Given the description of an element on the screen output the (x, y) to click on. 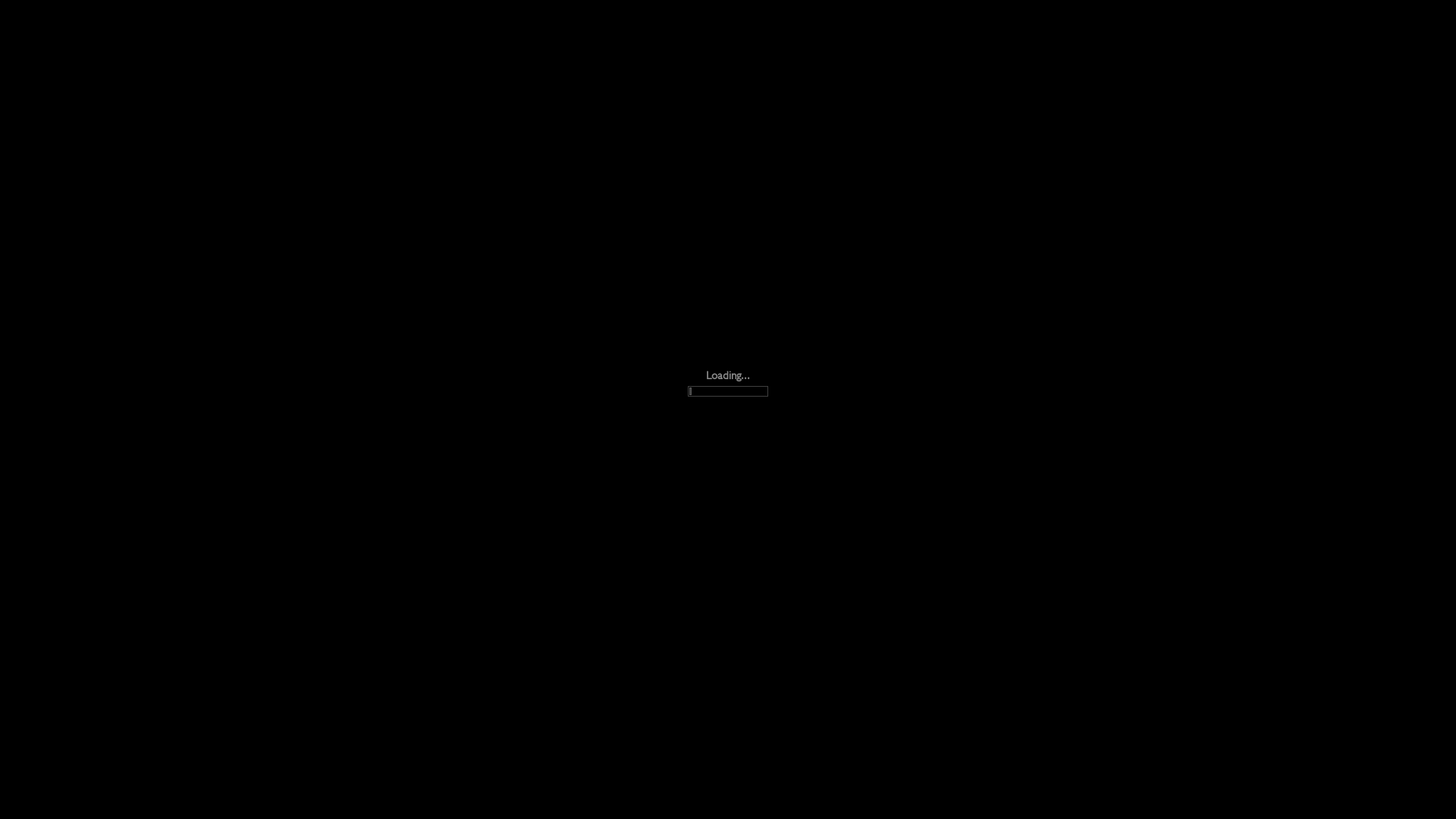
3D FLOOR PLAN Element type: text (46, 73)
PDF FLOOR PLAN Element type: text (141, 73)
